Given the description of an element on the screen output the (x, y) to click on. 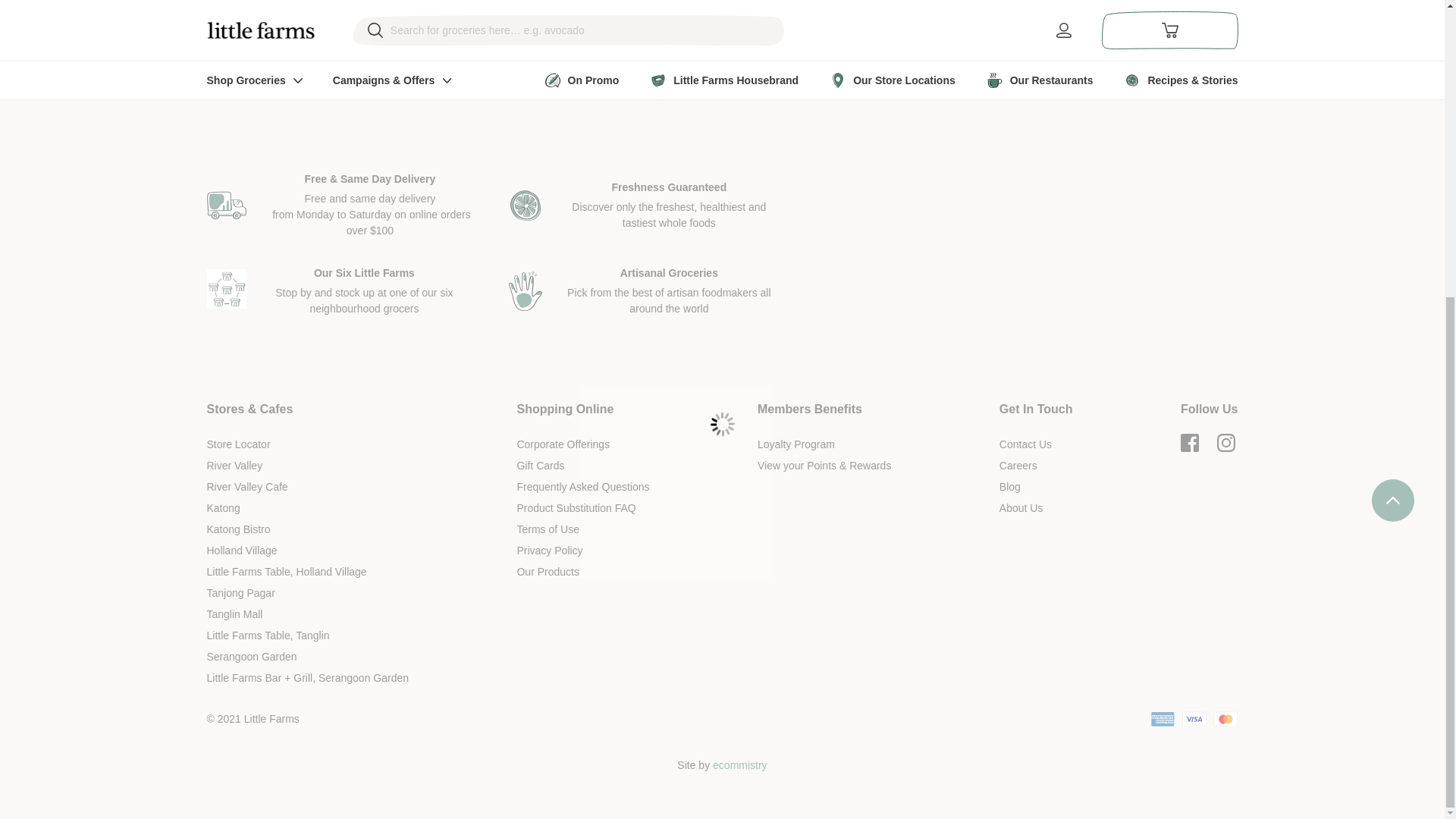
Follow Us on Facebook (1189, 443)
Follow Us on Instagram (1225, 443)
